Given the description of an element on the screen output the (x, y) to click on. 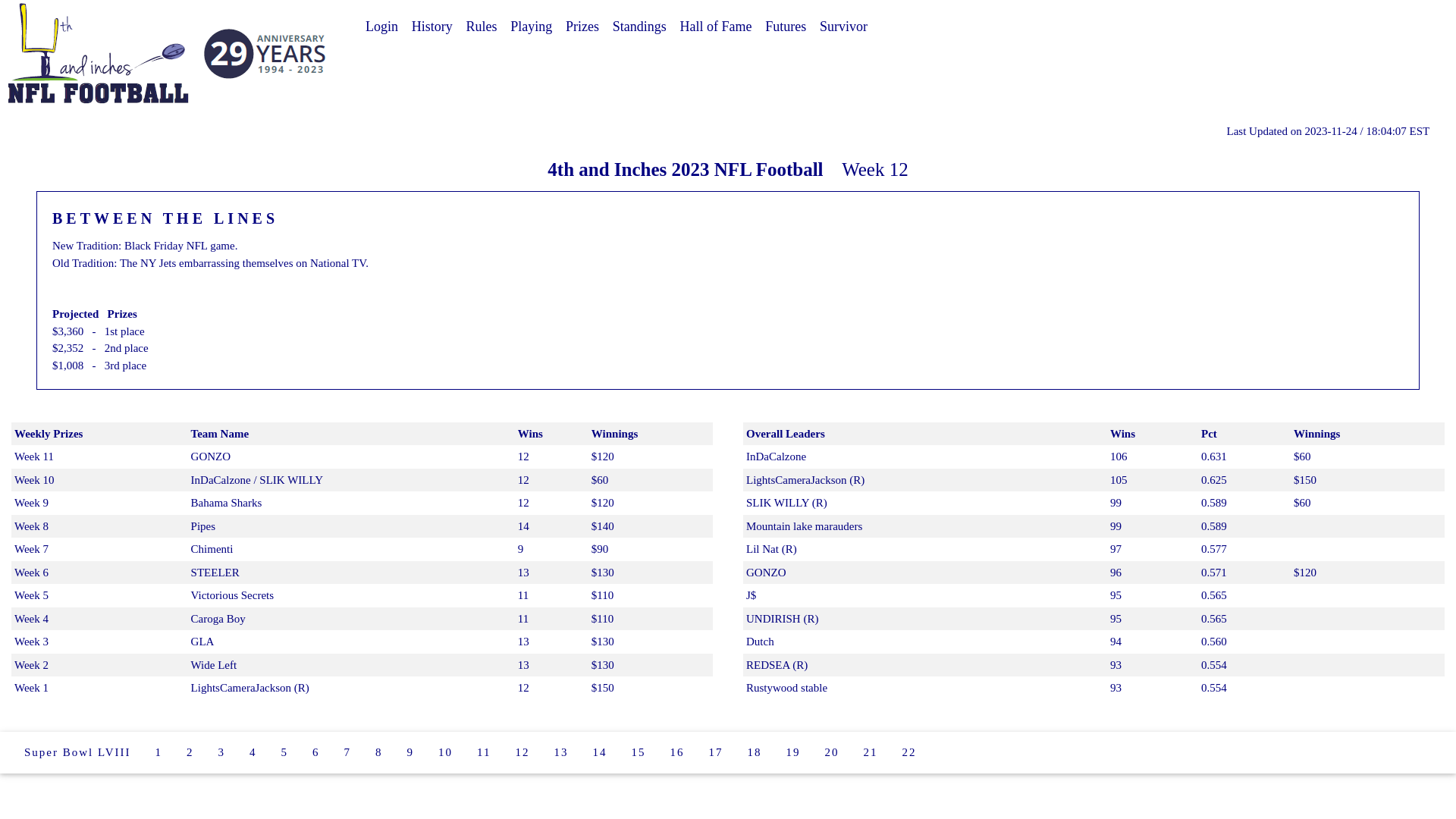
16 Element type: text (677, 752)
12 Element type: text (522, 752)
2 Element type: text (190, 752)
7 Element type: text (348, 752)
4 Element type: text (253, 752)
10 Element type: text (445, 752)
17 Element type: text (715, 752)
Futures Element type: text (785, 26)
Hall of Fame Element type: text (716, 26)
8 Element type: text (379, 752)
Standings Element type: text (639, 26)
6 Element type: text (316, 752)
22 Element type: text (909, 752)
18 Element type: text (754, 752)
Survivor Element type: text (843, 26)
11 Element type: text (483, 752)
13 Element type: text (561, 752)
Week 12 Element type: text (874, 169)
Rules Element type: text (480, 26)
Login Element type: text (381, 26)
3 Element type: text (222, 752)
Playing Element type: text (531, 26)
14 Element type: text (599, 752)
Prizes Element type: text (582, 26)
21 Element type: text (870, 752)
Super Bowl LVIII Element type: text (77, 752)
15 Element type: text (638, 752)
19 Element type: text (793, 752)
History Element type: text (431, 26)
5 Element type: text (285, 752)
1 Element type: text (159, 752)
20 Element type: text (831, 752)
9 Element type: text (410, 752)
